Given the description of an element on the screen output the (x, y) to click on. 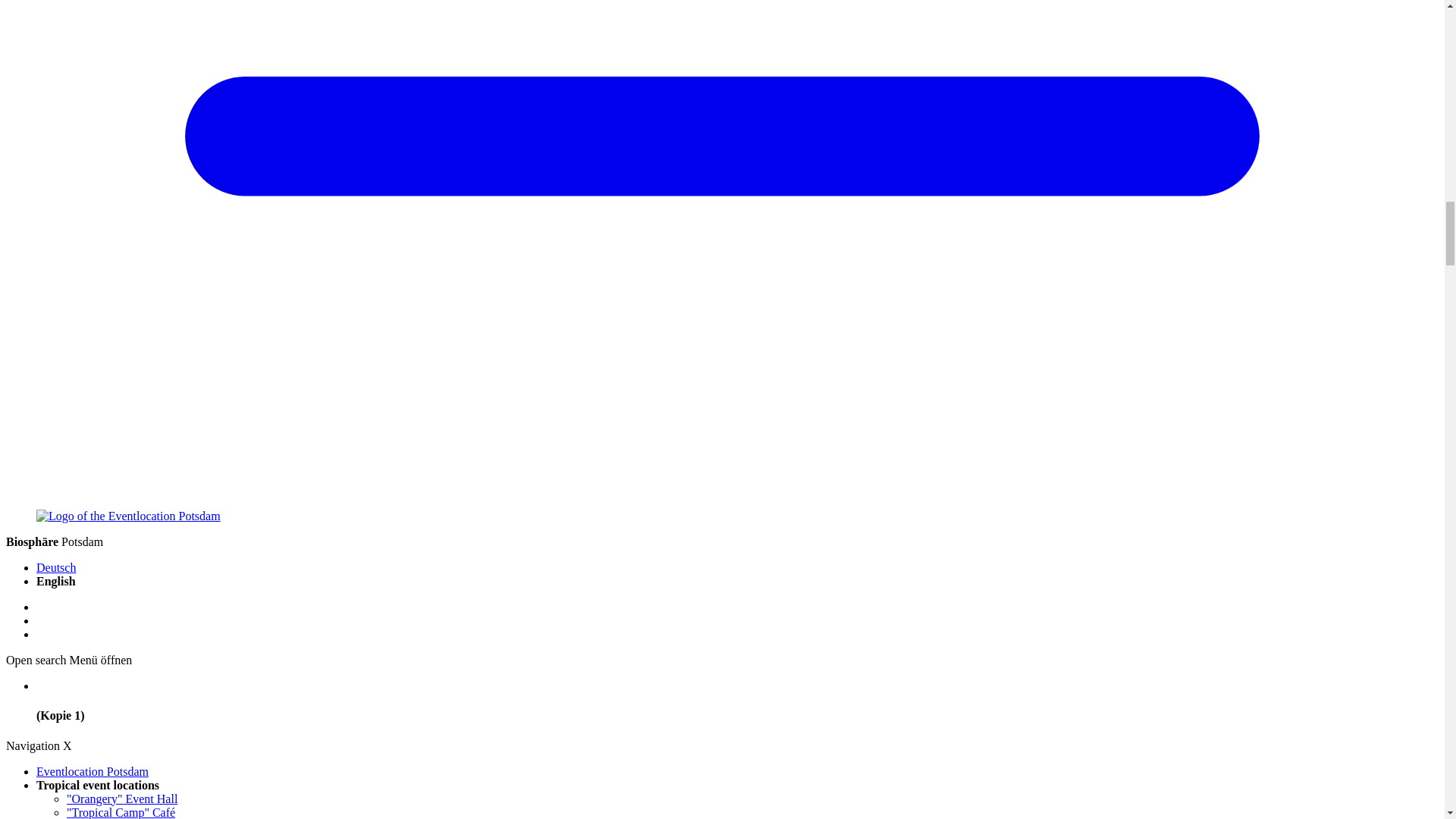
To home (128, 515)
Eventlocation Potsdam (92, 771)
"Orangery" Event Hall (121, 798)
Deutsch (55, 567)
